Given the description of an element on the screen output the (x, y) to click on. 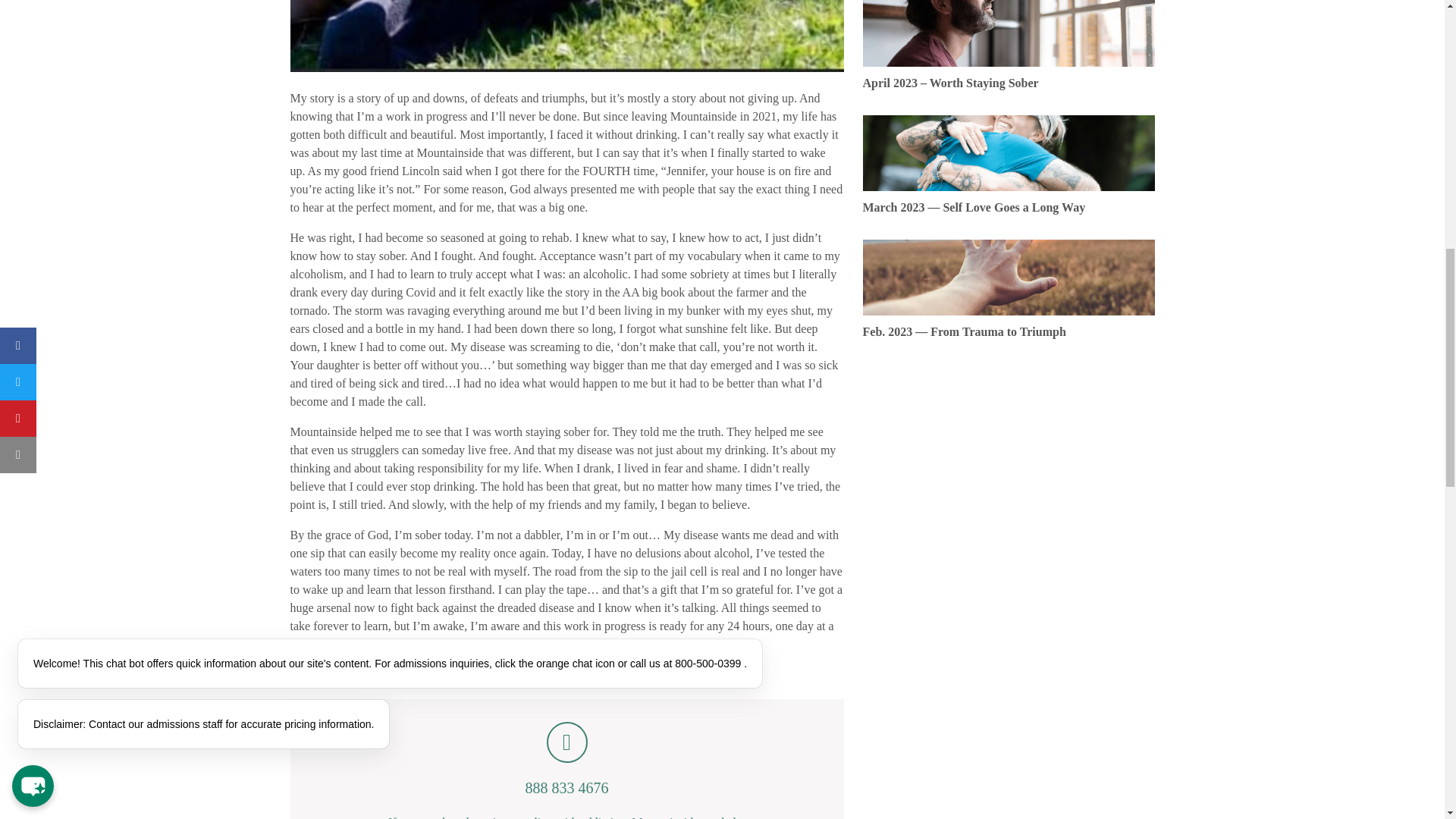
888 833 4676 (566, 759)
